Given the description of an element on the screen output the (x, y) to click on. 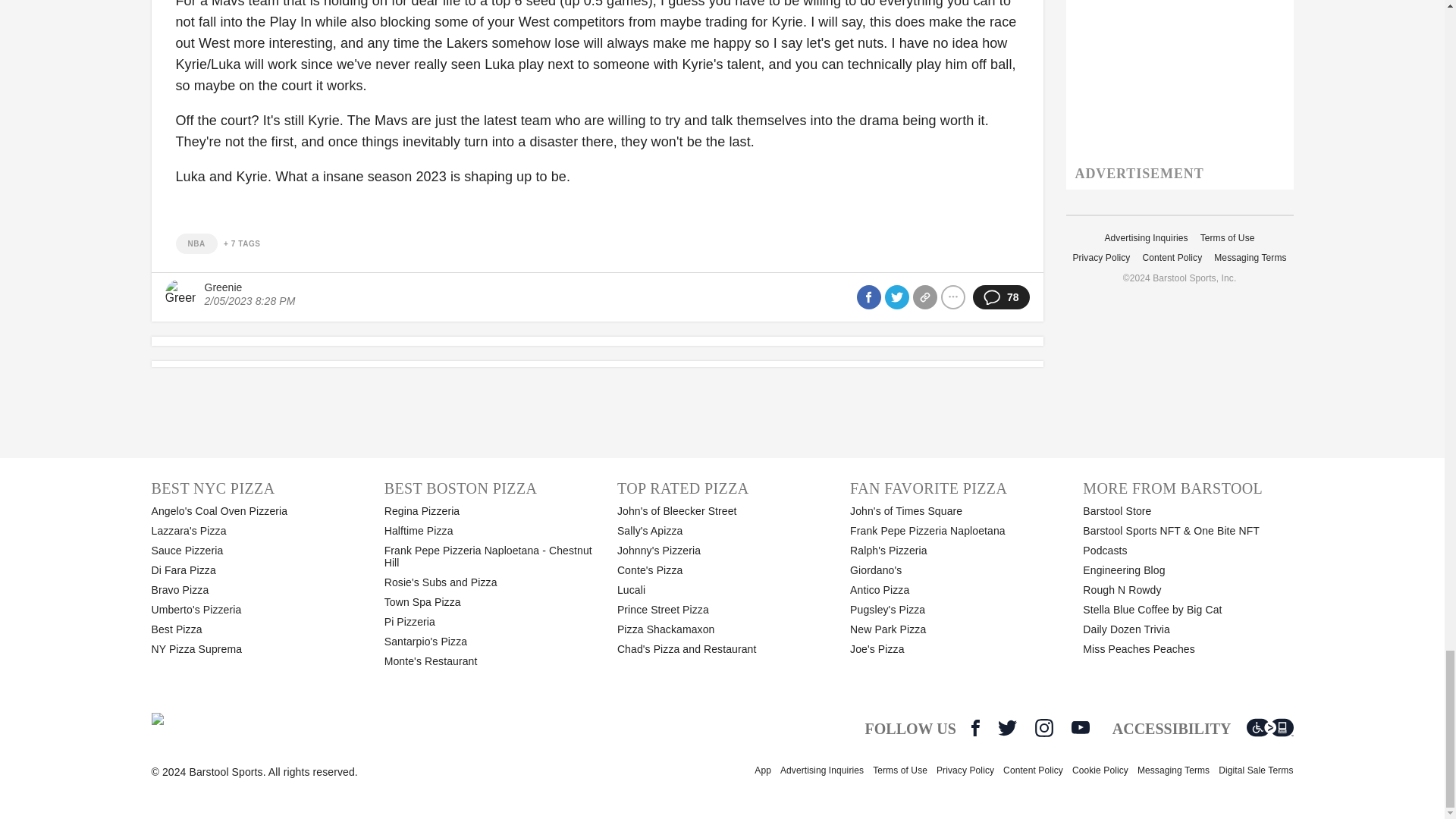
Instagram Icon (1043, 728)
Level Access website accessibility icon (1270, 727)
Facebook Icon (975, 728)
YouTube Icon (1080, 727)
Twitter Icon (1006, 728)
